Given the description of an element on the screen output the (x, y) to click on. 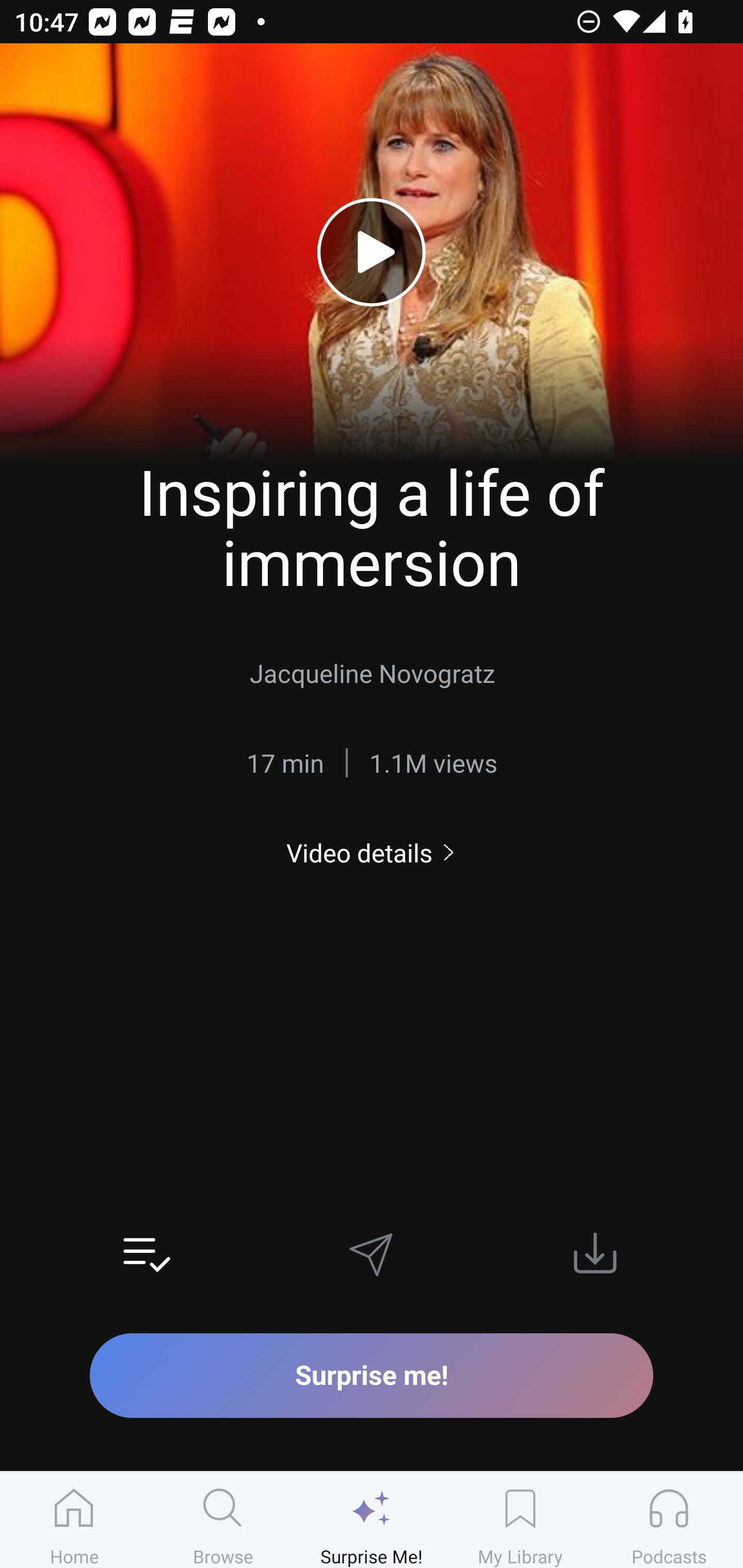
Video details (371, 852)
Surprise me! (371, 1374)
Home (74, 1520)
Browse (222, 1520)
Surprise Me! (371, 1520)
My Library (519, 1520)
Podcasts (668, 1520)
